Given the description of an element on the screen output the (x, y) to click on. 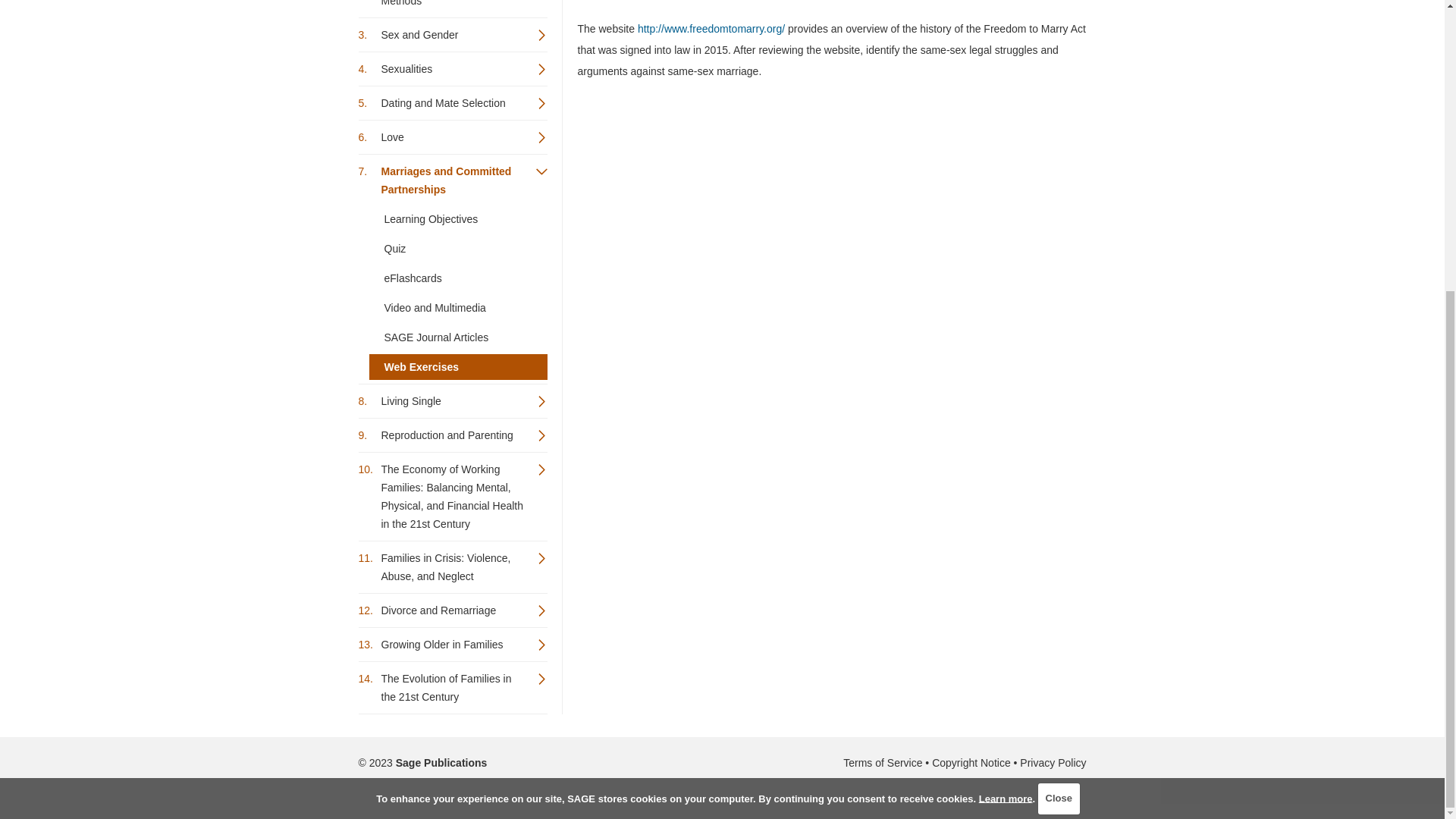
Sexualities (452, 68)
Sex and Gender (452, 34)
How We Study the Family: Theories and Research Methods (452, 6)
Learn more (1005, 353)
